Given the description of an element on the screen output the (x, y) to click on. 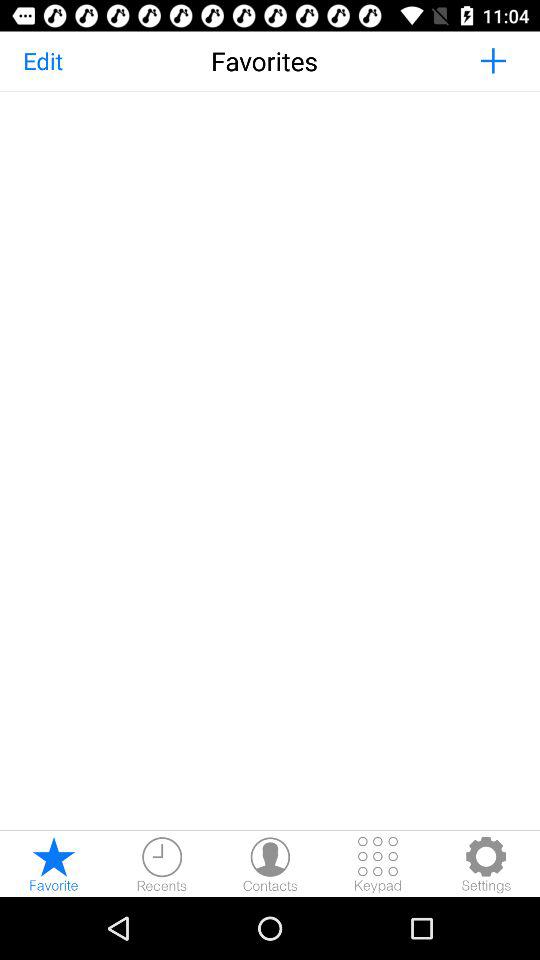
open contacts (269, 864)
